Given the description of an element on the screen output the (x, y) to click on. 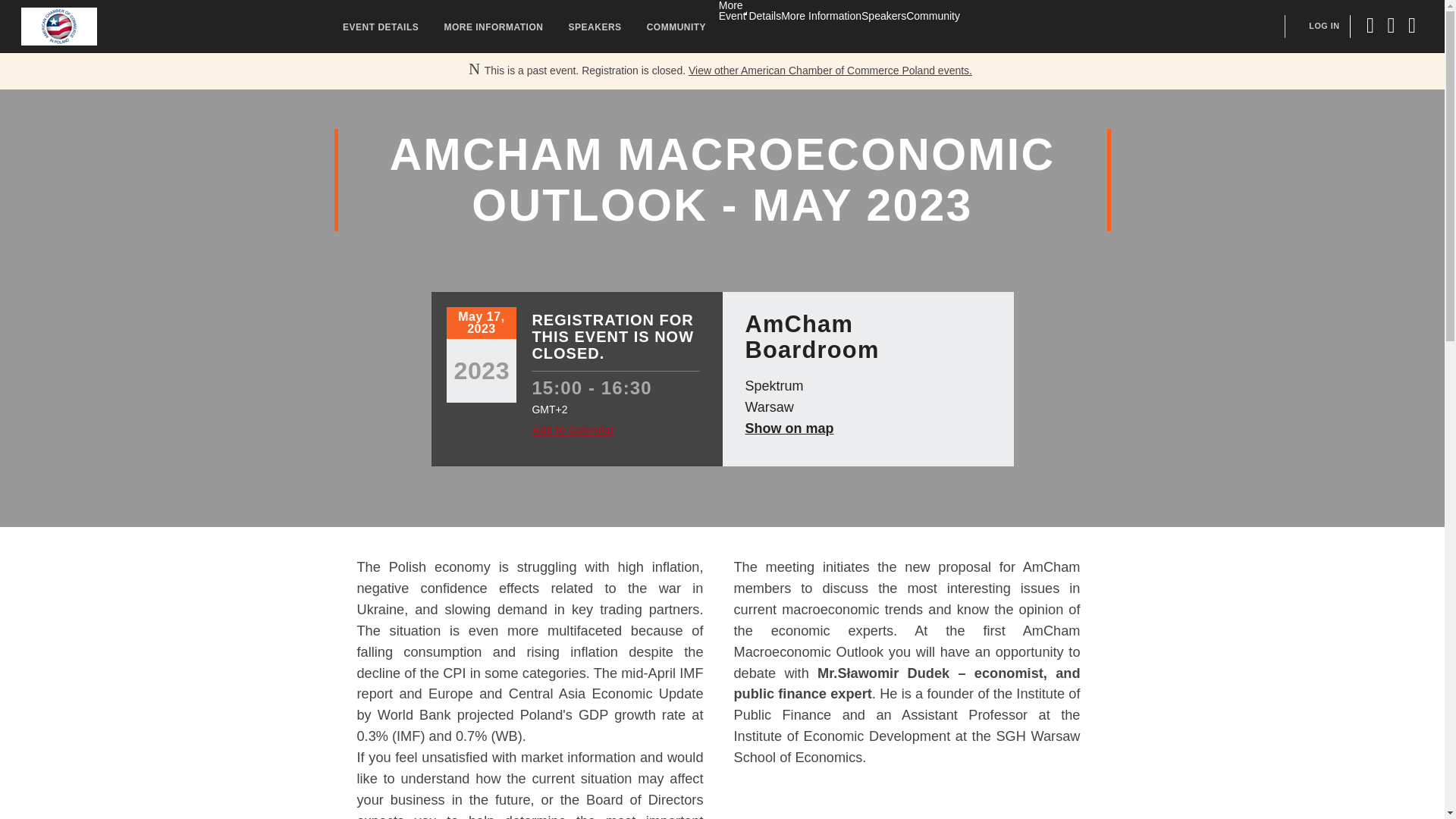
More Information (820, 15)
Speakers (883, 15)
MORE INFORMATION (493, 25)
LOG IN (1323, 26)
View other American Chamber of Commerce Poland events. (830, 70)
EVENT DETAILS (380, 25)
SPEAKERS (595, 25)
MORE INFORMATION (493, 25)
EVENT DETAILS (380, 25)
COMMUNITY (676, 25)
